Given the description of an element on the screen output the (x, y) to click on. 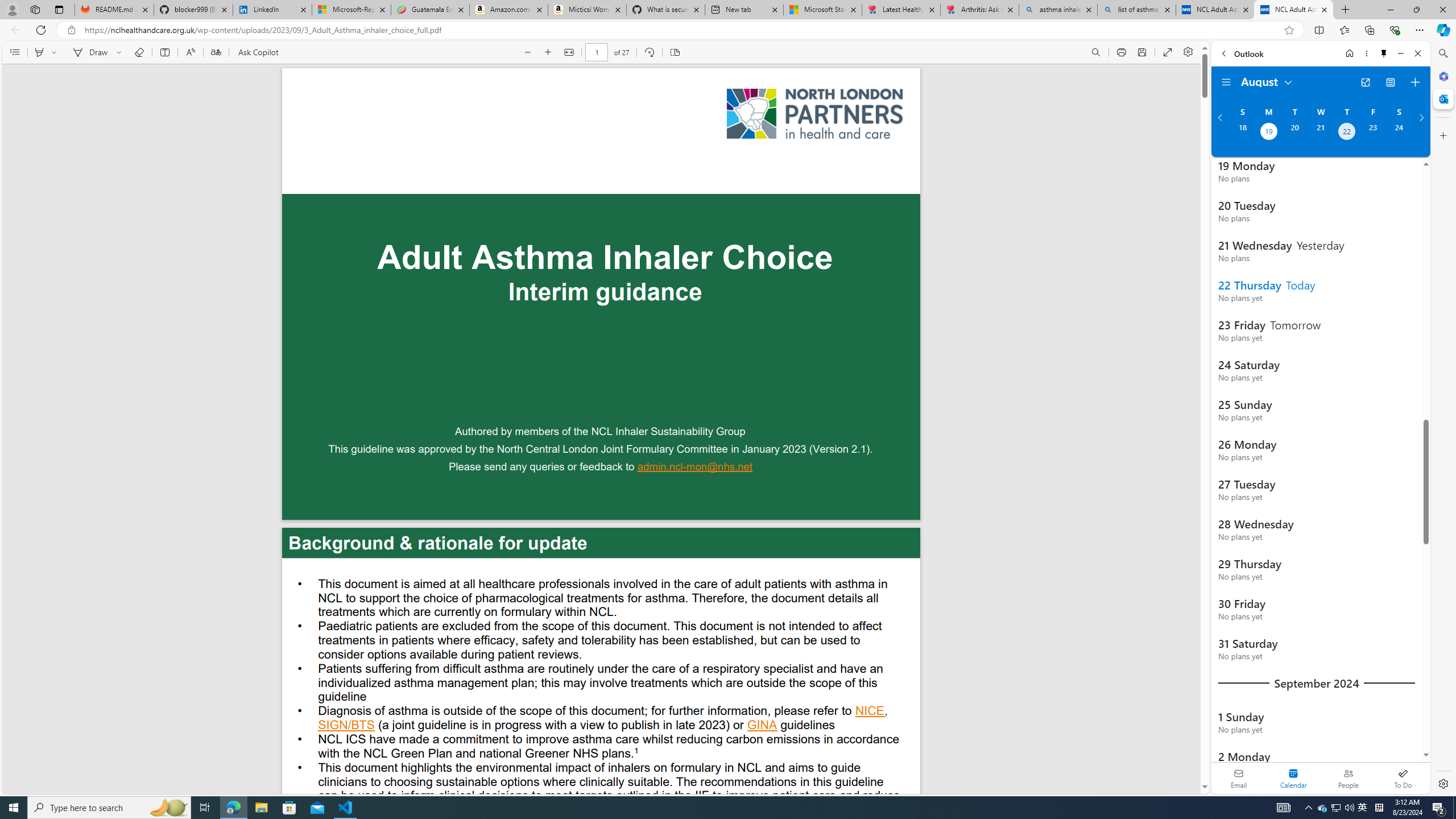
Translate (215, 52)
Ask Copilot (257, 52)
Page number (596, 52)
Selected calendar module. Date today is 22 (1293, 777)
Outlook (1442, 98)
To Do (1402, 777)
Customize (1442, 135)
Zoom out (Ctrl+Minus key) (527, 52)
